Given the description of an element on the screen output the (x, y) to click on. 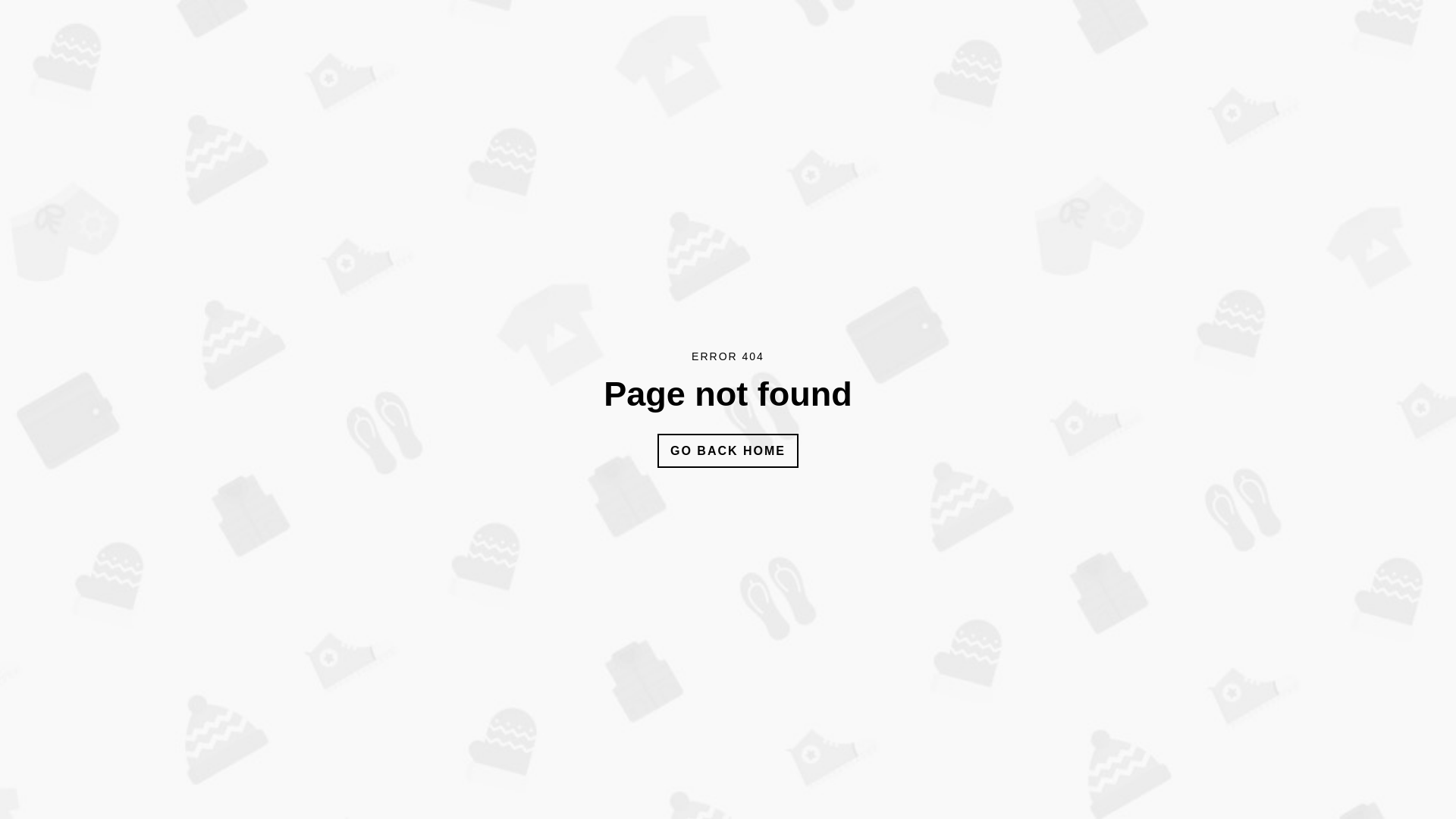
GO BACK HOME Element type: text (727, 450)
